Given the description of an element on the screen output the (x, y) to click on. 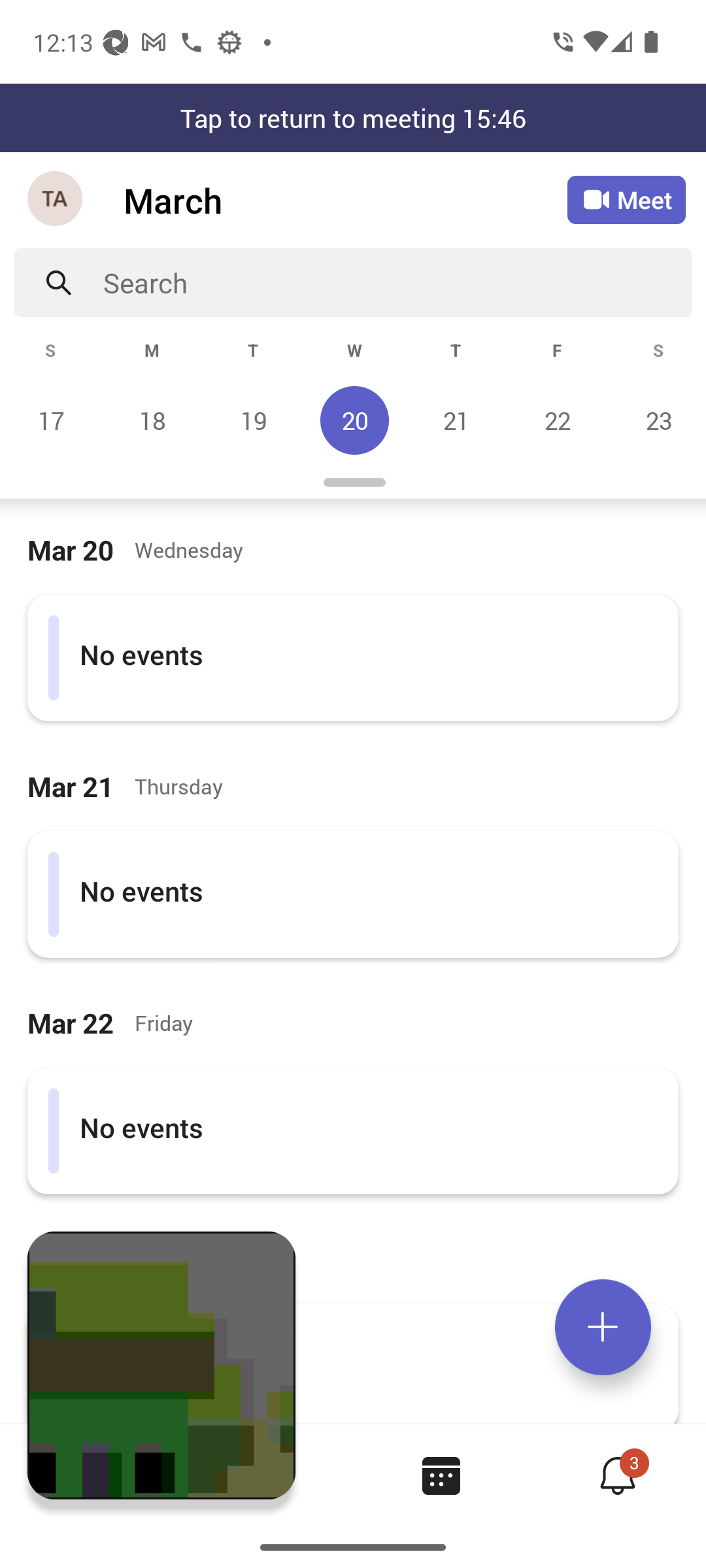
Tap to return to meeting 15:46 (353, 117)
Navigation (56, 199)
Meet Meet now or join with an ID (626, 199)
March March Calendar Agenda View (345, 199)
Search (397, 281)
Sunday, March 17 17 (50, 420)
Monday, March 18 18 (151, 420)
Tuesday, March 19 19 (253, 420)
Wednesday, March 20, Selected 20 (354, 420)
Thursday, March 21 21 (455, 420)
Friday, March 22 22 (556, 420)
Saturday, March 23 23 (656, 420)
Expand meetings menu (602, 1327)
Calendar tab, 3 of 4 (441, 1475)
Activity tab,4 of 4, not selected, 3 new 3 (617, 1475)
